Given the description of an element on the screen output the (x, y) to click on. 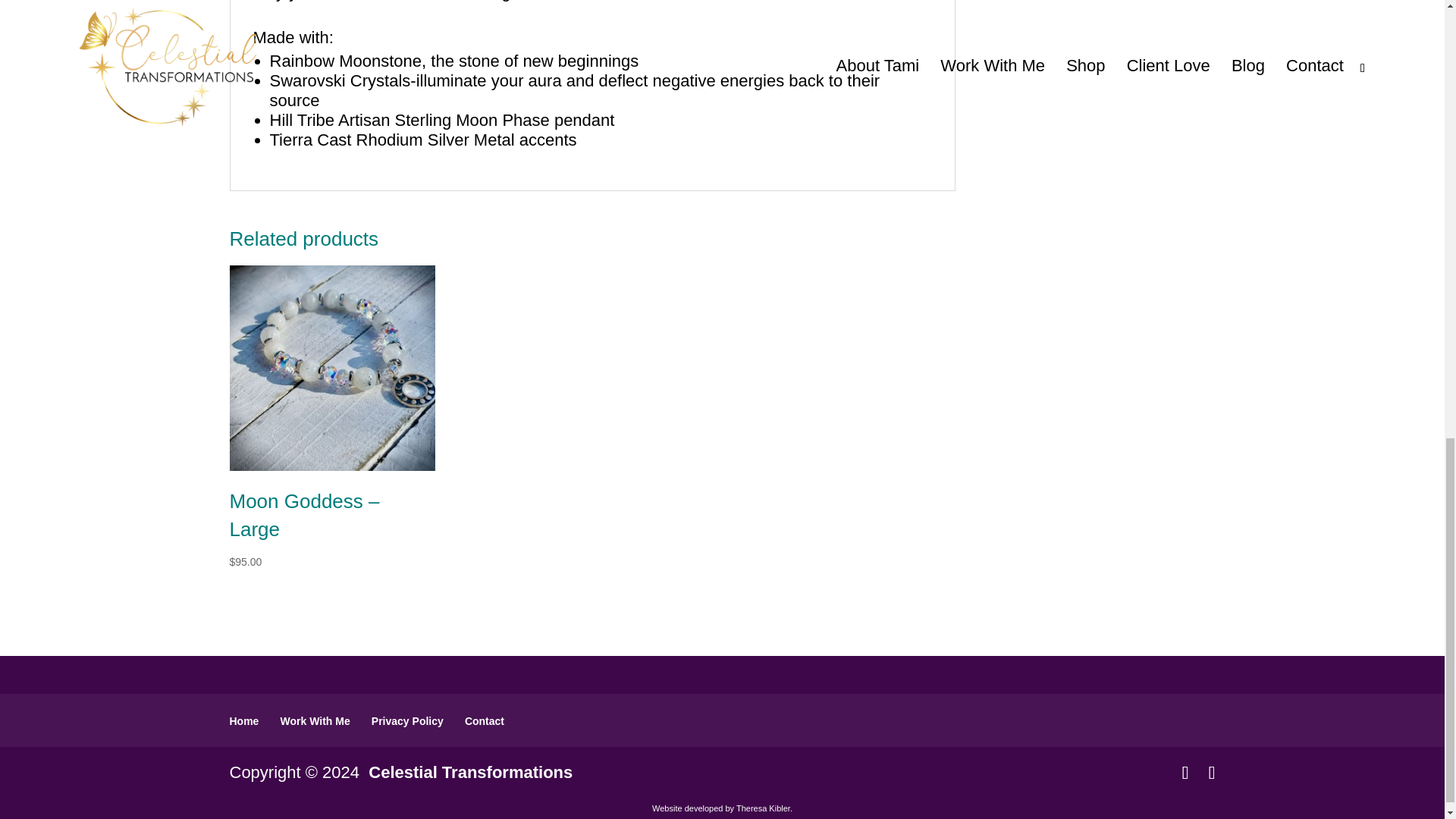
Celestial Transformations (470, 772)
Work With Me (315, 720)
Theresa Kibler (763, 808)
Celestial Transformations (470, 772)
Privacy Policy (407, 720)
Contact (483, 720)
Home (243, 720)
